Given the description of an element on the screen output the (x, y) to click on. 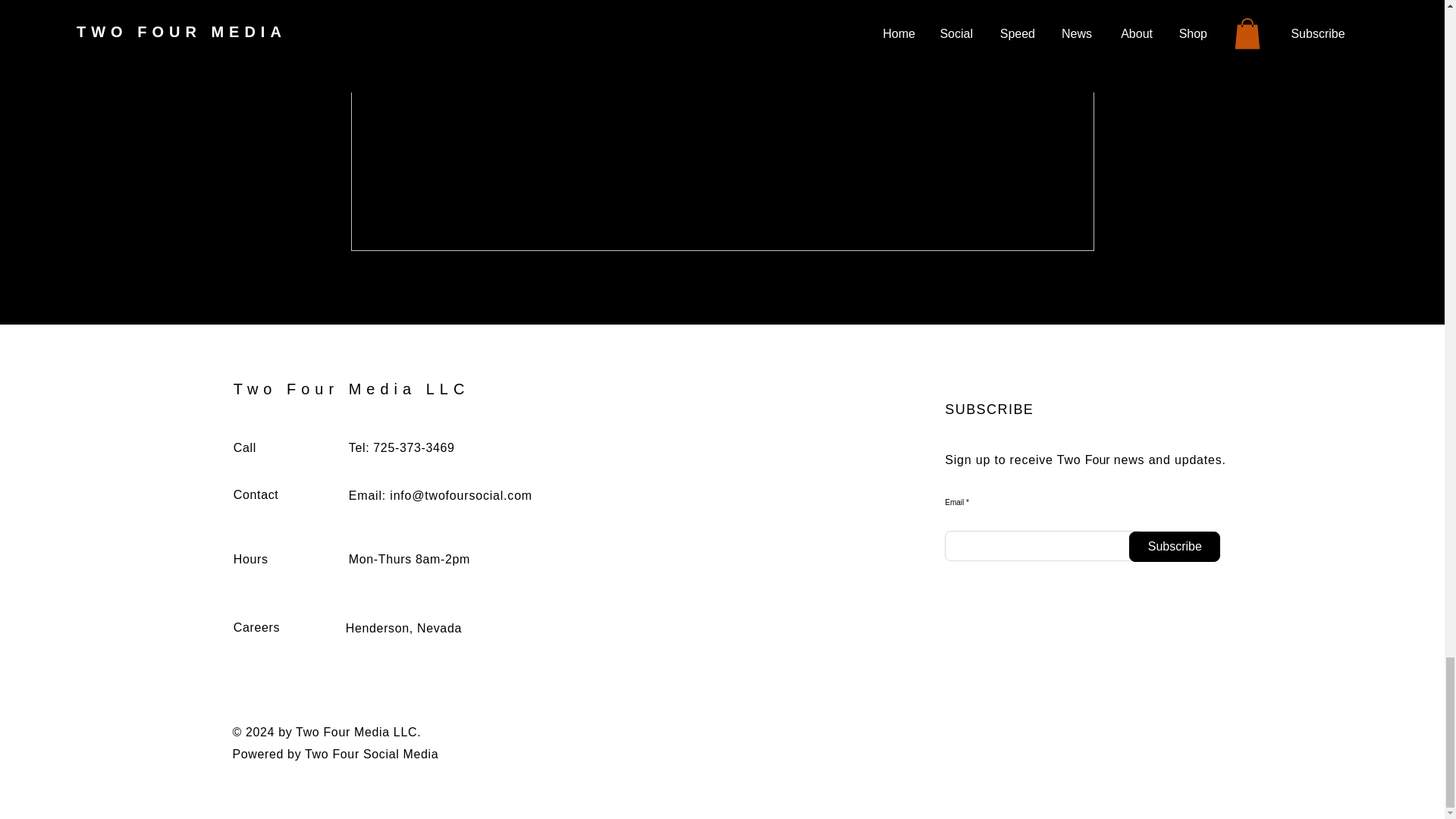
Two Four Media LLC (351, 388)
Subscribe (1174, 546)
Hours (249, 558)
Call (244, 447)
Contact (255, 494)
Careers (255, 626)
